Given the description of an element on the screen output the (x, y) to click on. 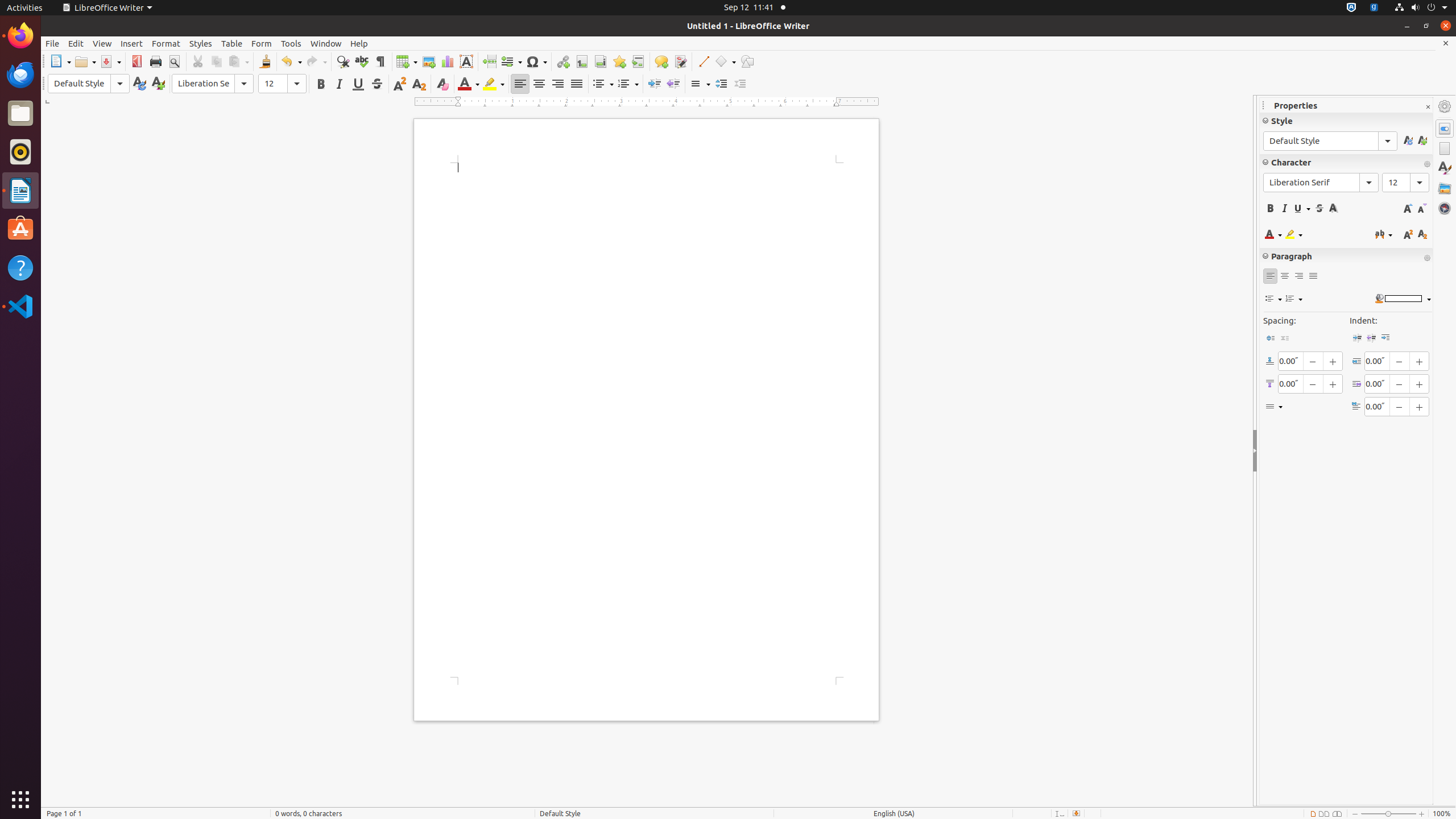
Visual Studio Code Element type: push-button (20, 306)
Symbol Element type: push-button (535, 61)
Close Sidebar Deck Element type: push-button (1427, 106)
Hyperlink Element type: toggle-button (562, 61)
org.kde.StatusNotifierItem-14077-1 Element type: menu (1373, 7)
